Given the description of an element on the screen output the (x, y) to click on. 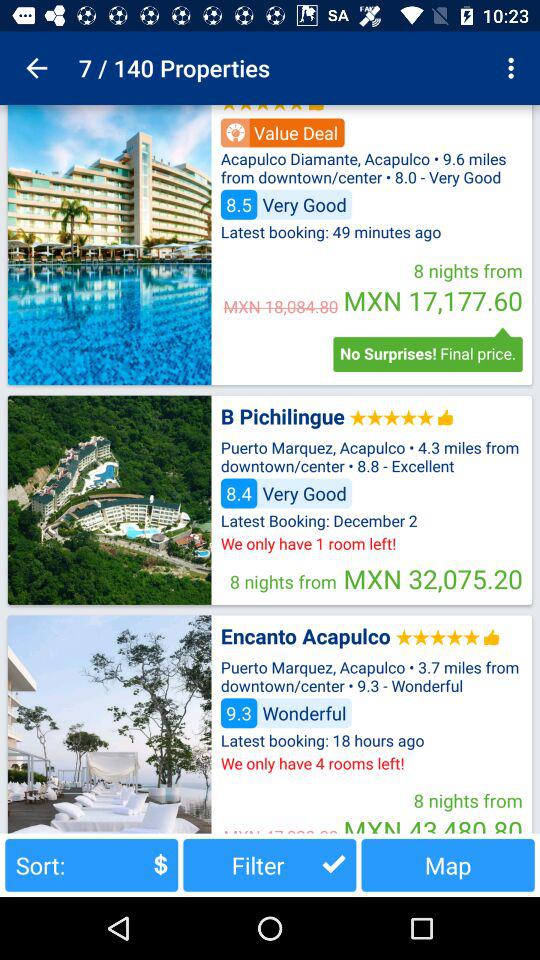
launch item next to sort:  button (269, 864)
